Given the description of an element on the screen output the (x, y) to click on. 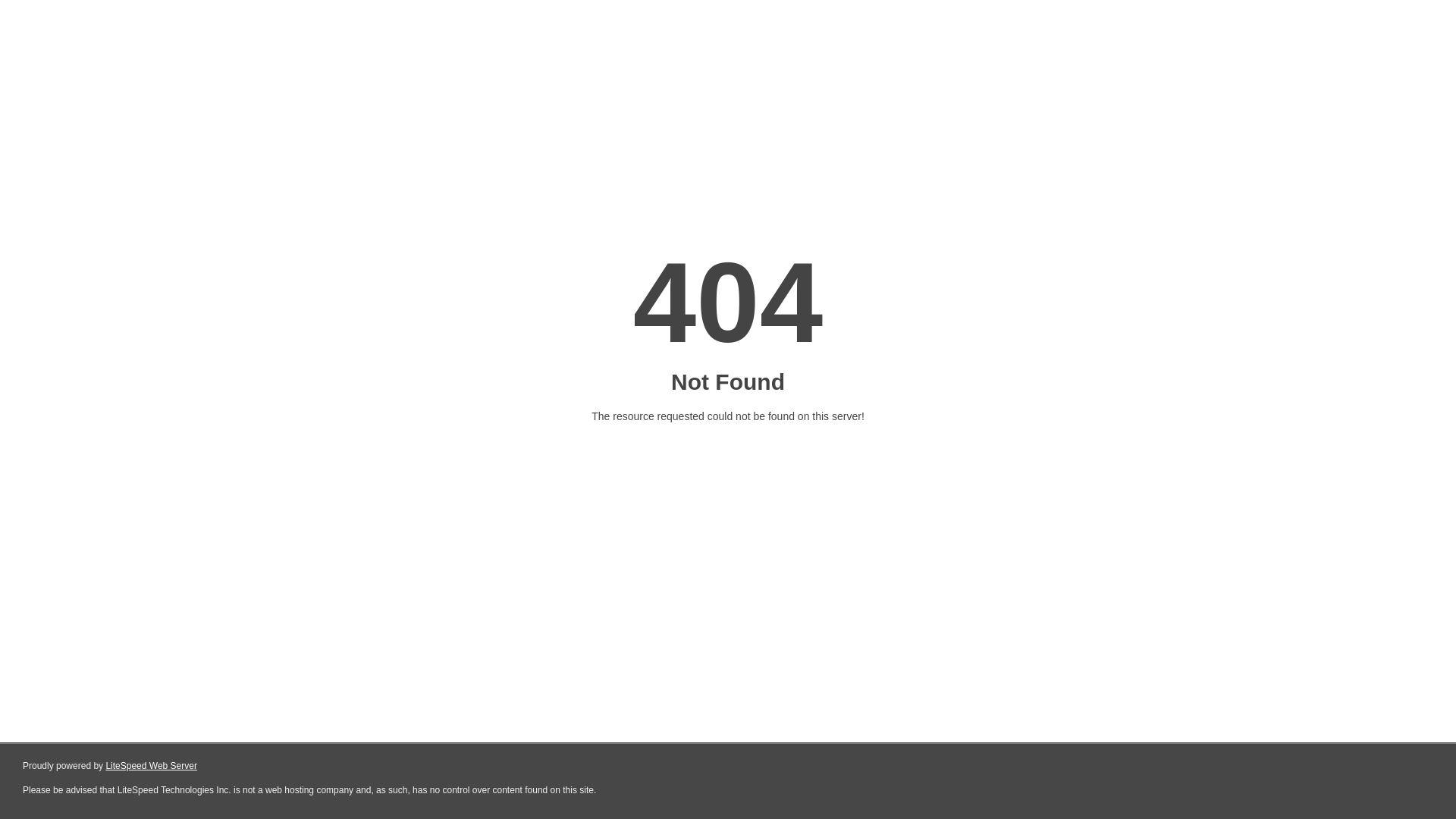
LiteSpeed Web Server Element type: text (151, 765)
